Given the description of an element on the screen output the (x, y) to click on. 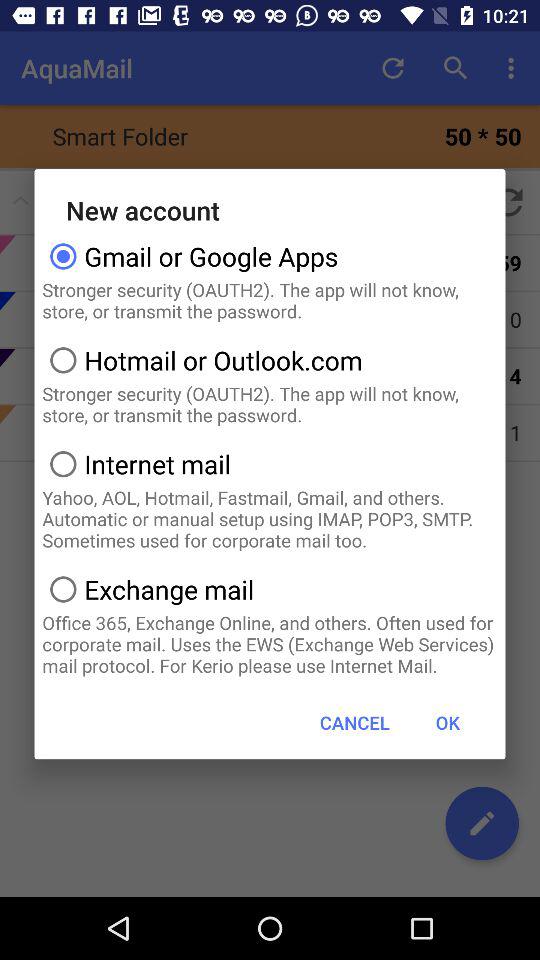
open item next to the cancel item (447, 722)
